Given the description of an element on the screen output the (x, y) to click on. 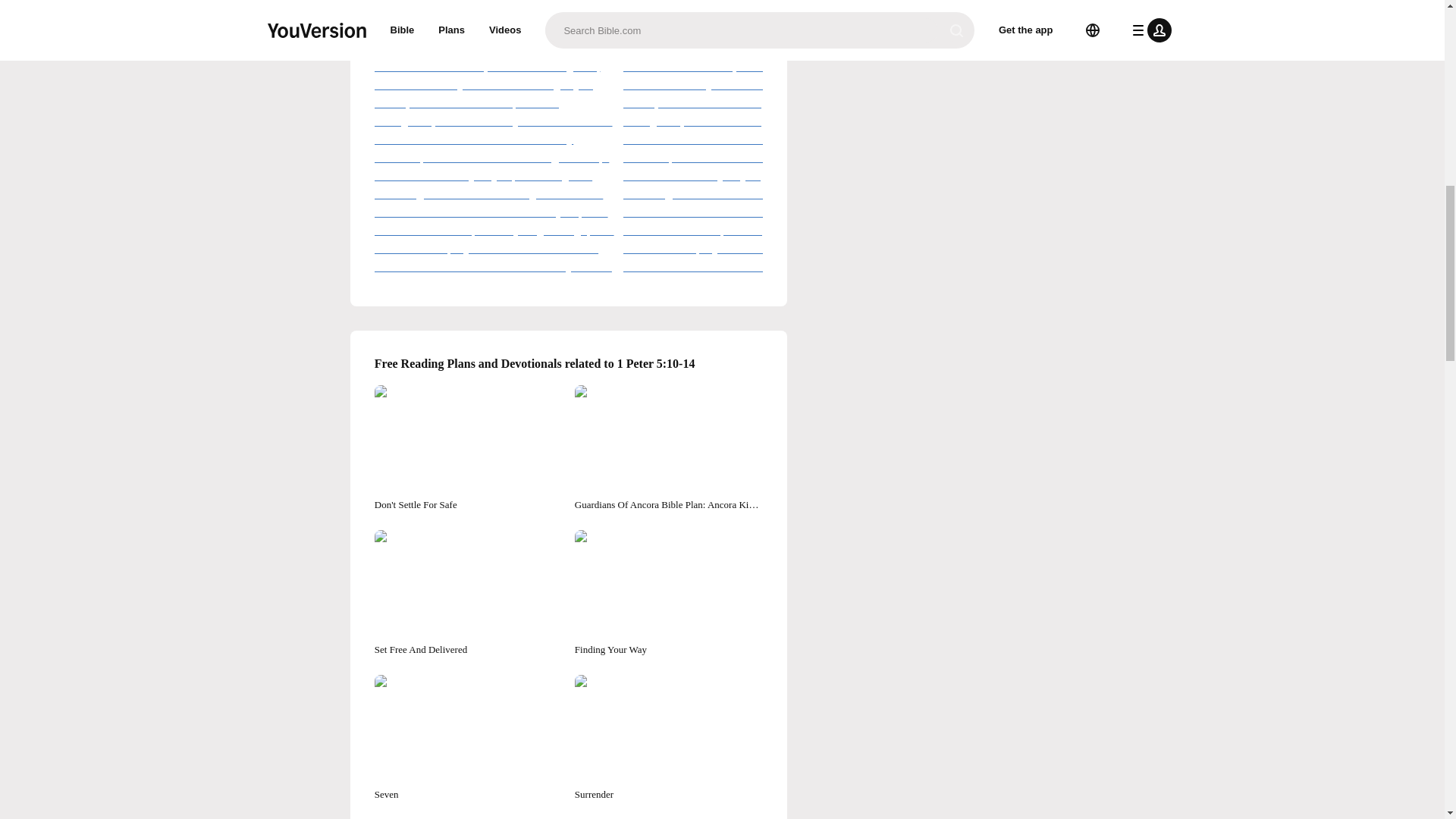
Verse Images for 1 Peter 5:10-14 (568, 18)
Surrender (668, 737)
Seven (468, 737)
Don't Settle For Safe (468, 447)
Finding Your Way (668, 592)
Set Free And Delivered (468, 592)
Guardians Of Ancora Bible Plan: Ancora Kids Live God's Way (668, 447)
